Given the description of an element on the screen output the (x, y) to click on. 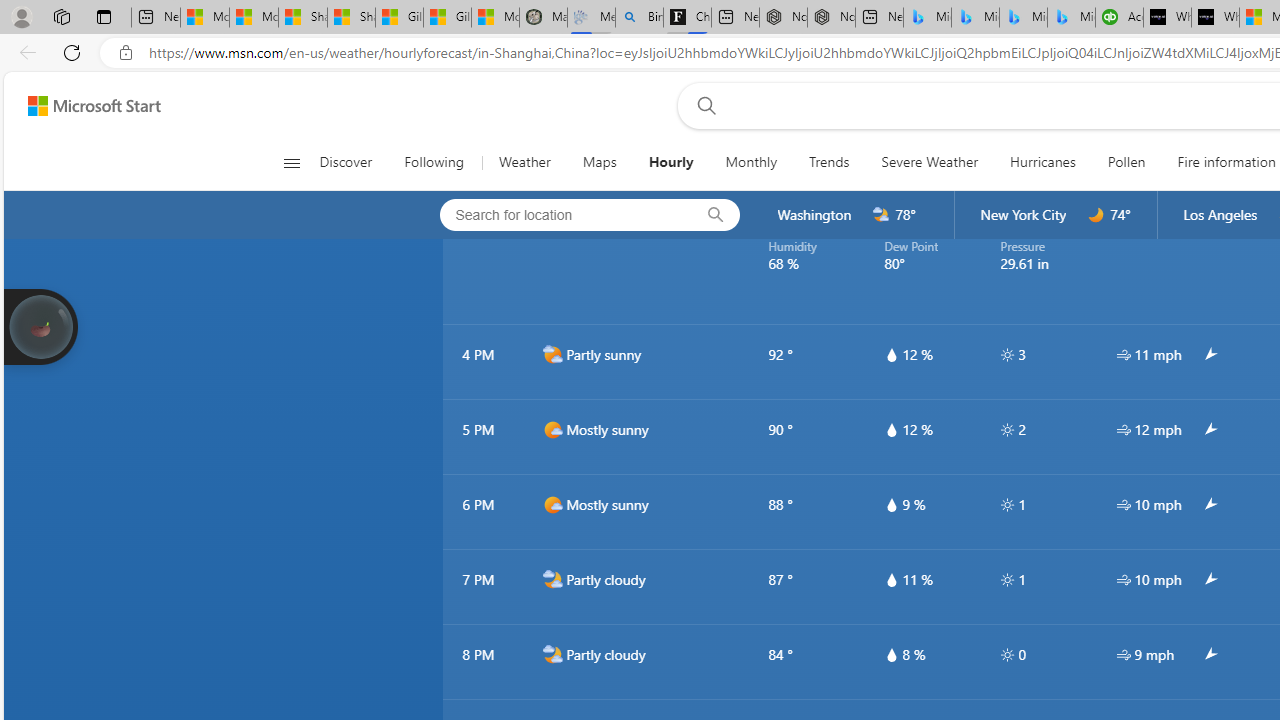
Pollen (1126, 162)
hourlyTable/drop (891, 654)
locationBar/search (715, 215)
Hurricanes (1042, 162)
Pollen (1126, 162)
Hurricanes (1042, 162)
Fire information (1226, 162)
Microsoft Bing Travel - Stays in Bangkok, Bangkok, Thailand (975, 17)
Trends (829, 162)
d1000 (552, 504)
